Given the description of an element on the screen output the (x, y) to click on. 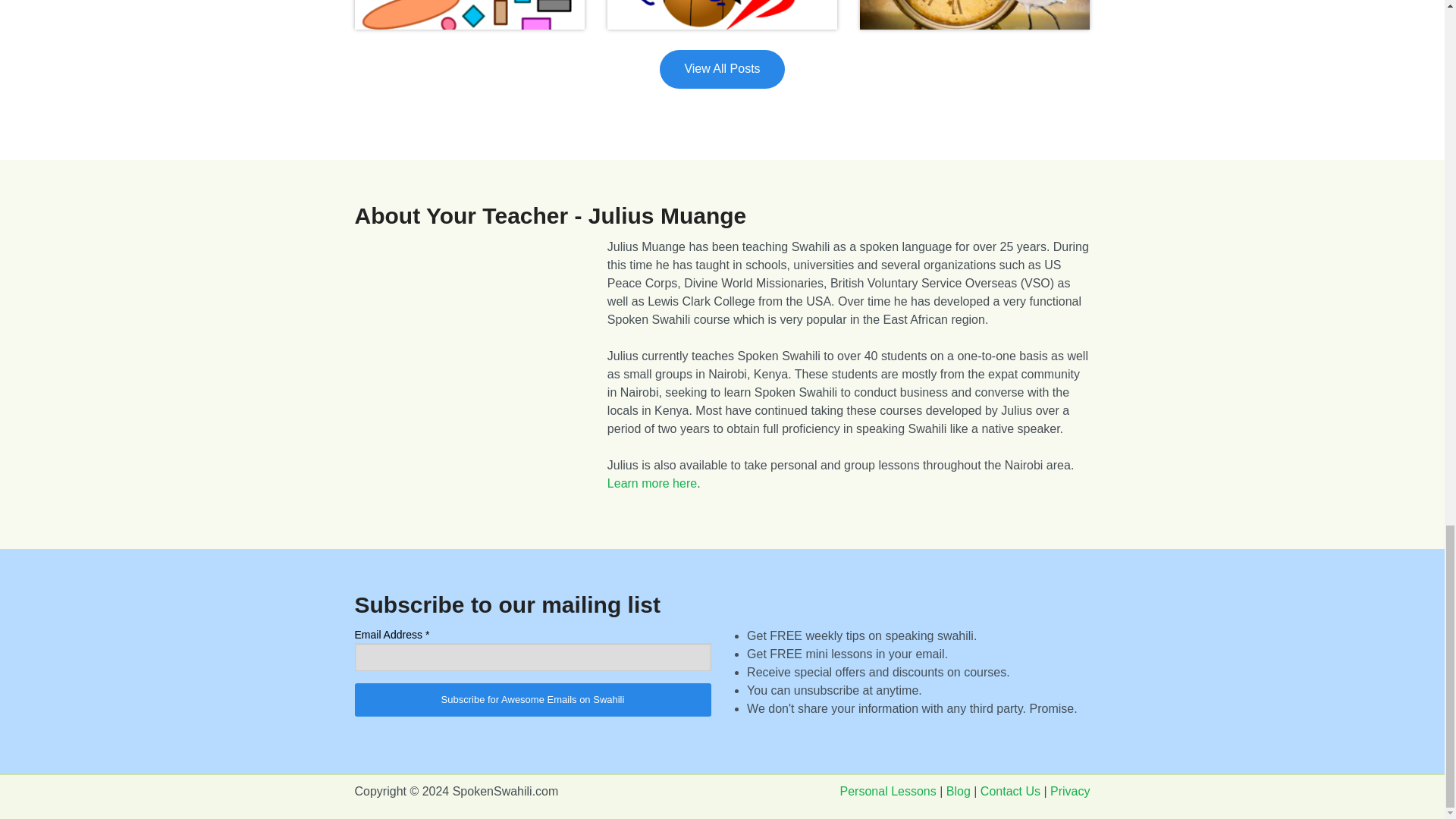
Subscribe for Awesome Emails on Swahili (533, 699)
View All Posts (721, 68)
Learn more here (652, 482)
Contact Us (1010, 790)
Personal Lessons (888, 790)
Subscribe for Awesome Emails on Swahili (533, 699)
Blog (958, 790)
Privacy (1069, 790)
